Given the description of an element on the screen output the (x, y) to click on. 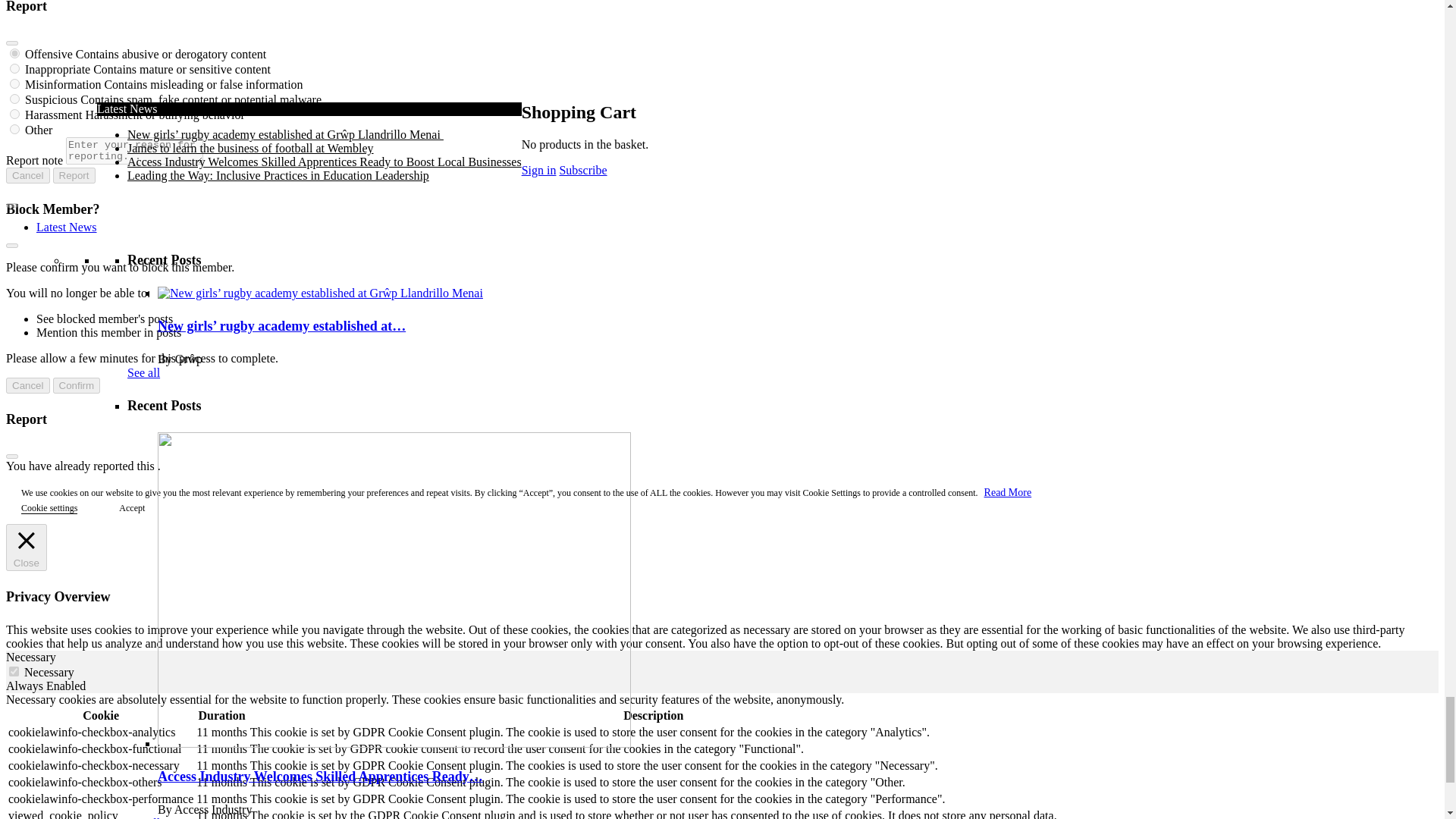
Cancel (27, 175)
41895 (15, 68)
Cancel (27, 385)
41897 (15, 99)
41894 (15, 53)
on (13, 671)
41898 (15, 113)
41896 (15, 83)
other (15, 129)
